Given the description of an element on the screen output the (x, y) to click on. 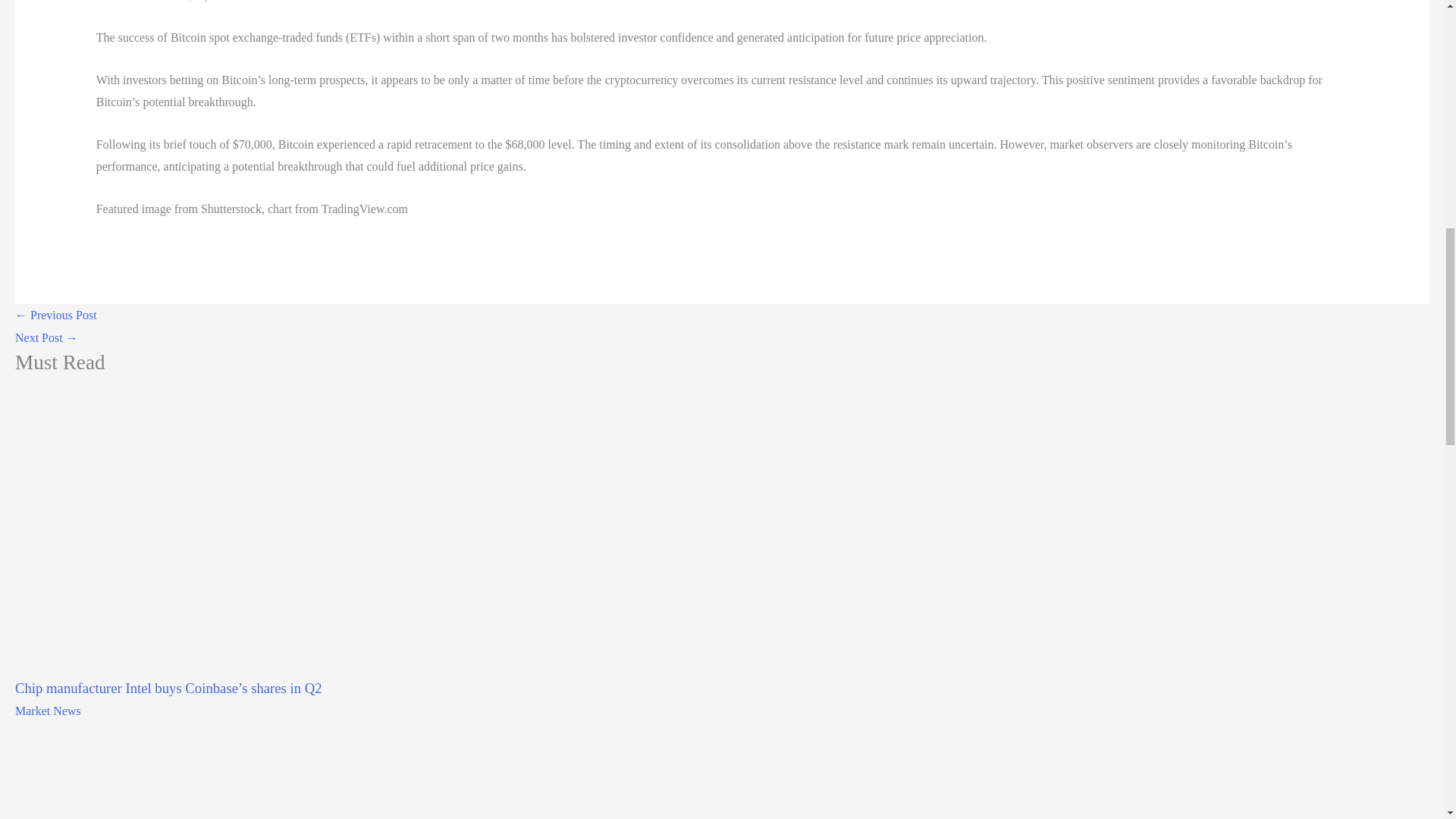
Market News (47, 710)
